Given the description of an element on the screen output the (x, y) to click on. 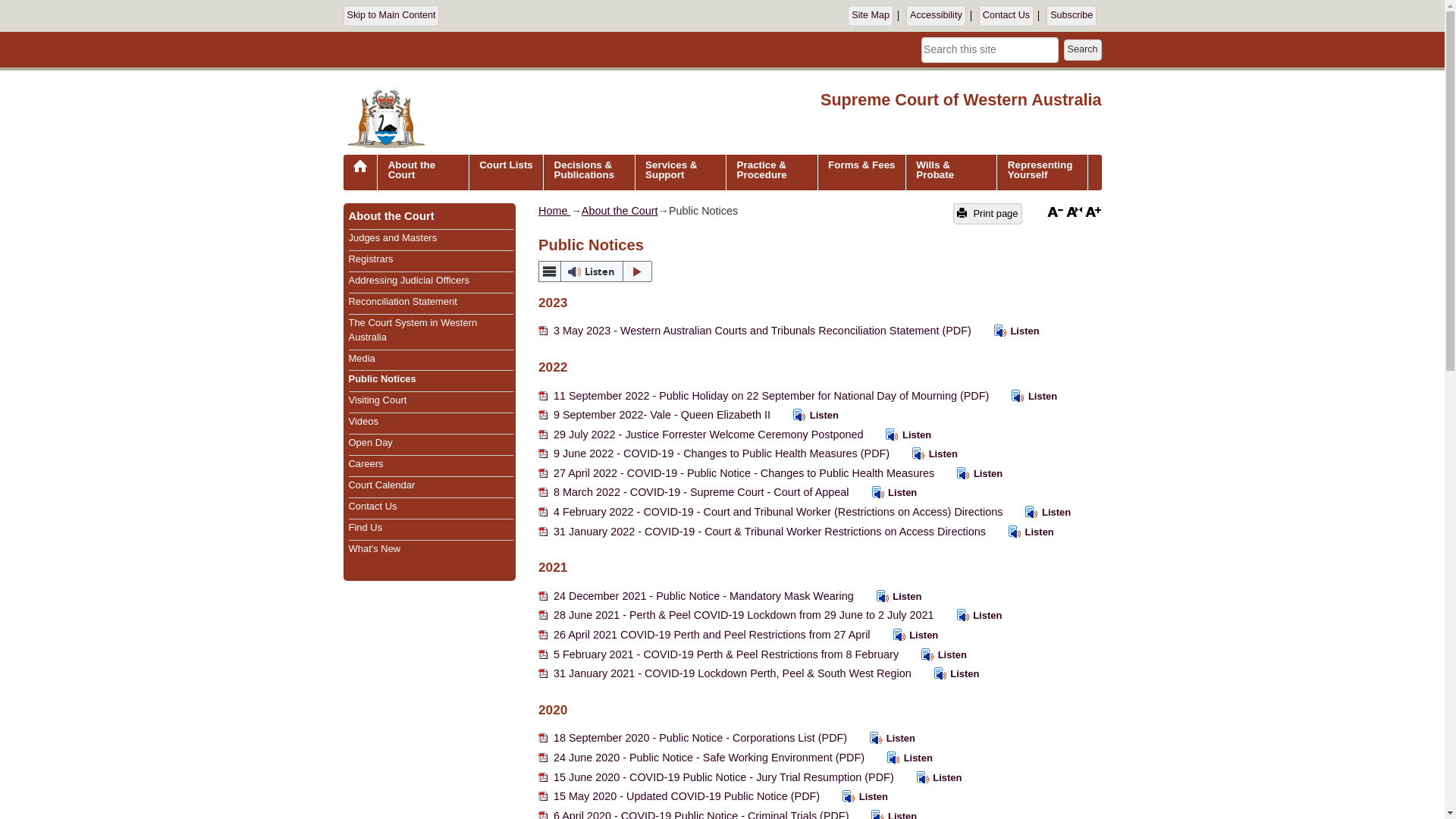
Listen Element type: text (908, 635)
Contact Us Element type: text (372, 505)
Open Day Element type: text (370, 442)
Find Us Element type: text (365, 527)
Subscribe Element type: text (1071, 15)
Search term Element type: hover (989, 49)
Listen Element type: text (936, 654)
About the Court Element type: text (391, 216)
Registrars Element type: text (370, 258)
Listen Element type: text (949, 673)
Videos Element type: text (363, 420)
Listen Element type: text (900, 434)
Careers Element type: text (365, 463)
Court Lists Element type: text (505, 172)
Listen Element type: text (1040, 512)
9 September 2022- Vale - Queen Elizabeth II Element type: text (655, 414)
Services & Support Element type: text (680, 172)
29 July 2022 - Justice Forrester Welcome Ceremony Postponed Element type: text (702, 434)
Listen Element type: text (808, 415)
About the Court Element type: text (422, 172)
Contact Us Element type: text (1006, 15)
Listen Element type: text (971, 615)
Site Map Element type: text (870, 15)
Listen Element type: text (886, 492)
18 September 2020 - Public Notice - Corporations List (PDF) Element type: text (694, 737)
Listen Element type: text (971, 473)
Decisions & Publications Element type: text (588, 172)
Listen Element type: text (931, 777)
Court Calendar Element type: text (381, 484)
Practice & Procedure Element type: text (771, 172)
Print page Element type: text (987, 214)
Listen Element type: text (1009, 330)
24 December 2021 - Public Notice - Mandatory Mask Wearing Element type: text (697, 595)
What's New Element type: text (374, 548)
Public Notices Element type: text (382, 378)
Skip to Main Content Element type: text (390, 15)
8 March 2022 - COVID-19 - Supreme Court - Court of Appeal Element type: text (695, 491)
Forms & Fees Element type: text (861, 172)
Listen Element type: text (891, 596)
Accessibility Element type: text (936, 15)
The Court System in Western Australia Element type: text (412, 329)
webReader menu Element type: hover (549, 271)
Home Element type: text (360, 177)
Listen Element type: text (1023, 531)
Listen Element type: text (595, 271)
Search Element type: text (1082, 49)
Listen Element type: text (1026, 396)
Visiting Court Element type: text (377, 399)
About the Court Element type: text (619, 210)
Home Element type: text (554, 210)
Media Element type: text (361, 357)
15 May 2020 - Updated COVID-19 Public Notice (PDF) Element type: text (680, 795)
Addressing Judicial Officers Element type: text (409, 279)
Listen Element type: text (884, 738)
Listen Element type: text (927, 453)
Listen Element type: text (857, 796)
Listen Element type: text (902, 757)
Representing Yourself Element type: text (1041, 172)
Judges and Masters Element type: text (392, 237)
Wills & Probate Element type: text (951, 172)
Reconciliation Statement Element type: text (402, 301)
